Given the description of an element on the screen output the (x, y) to click on. 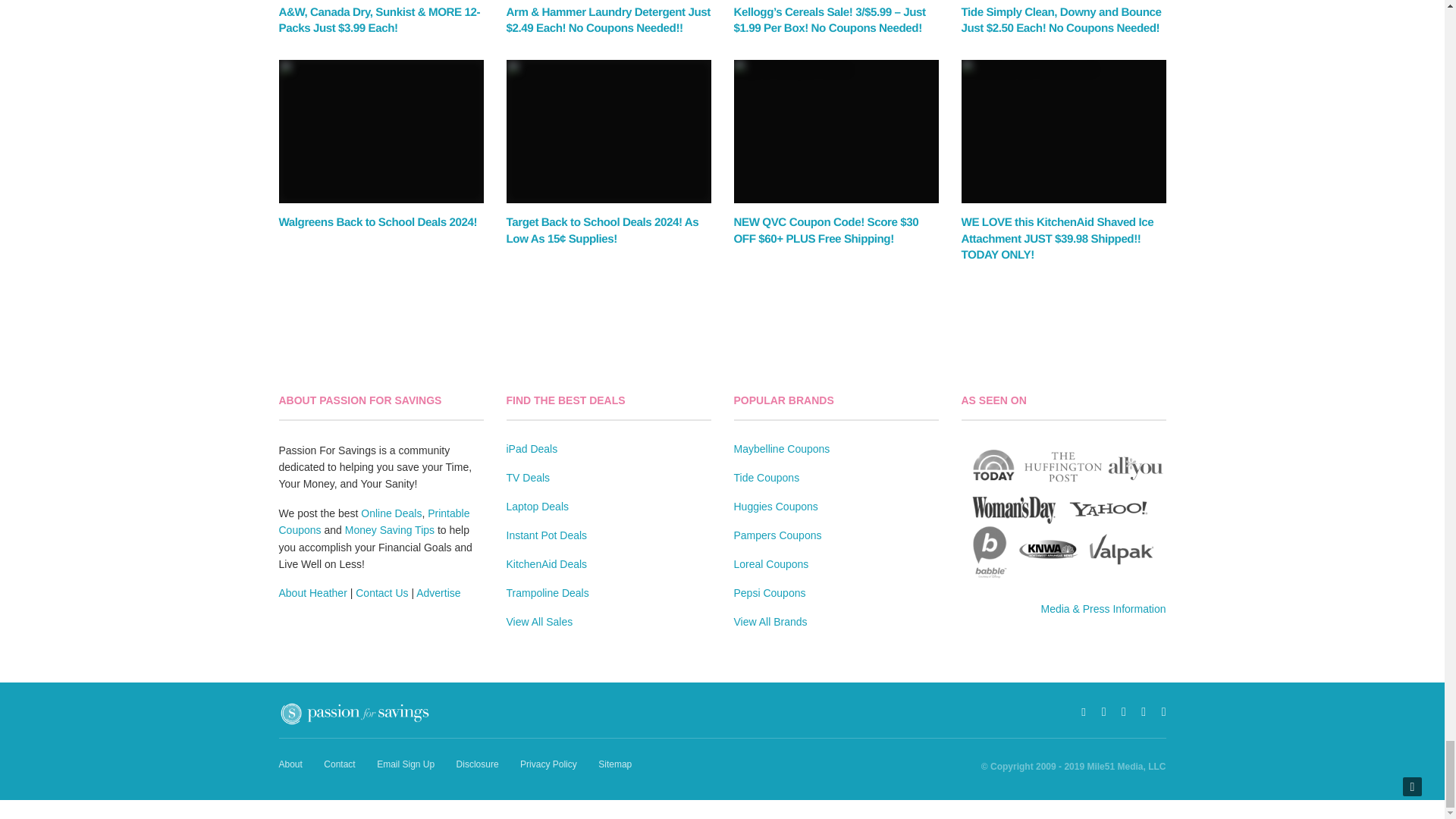
Walgreens Back to School Deals 2024! (378, 222)
Walgreens Back to School Deals 2024! (381, 131)
